Given the description of an element on the screen output the (x, y) to click on. 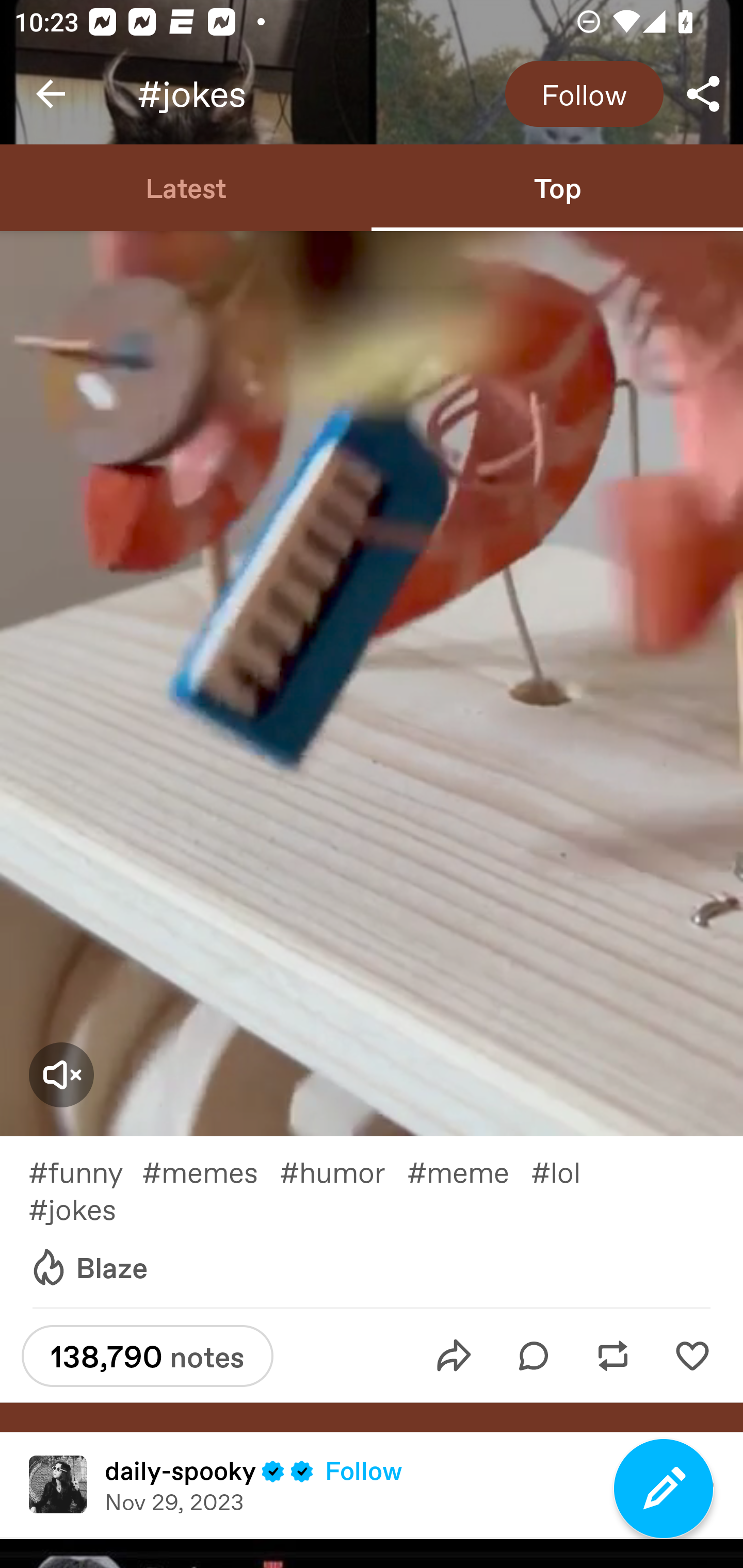
Navigate up (50, 93)
Follow (584, 94)
Latest (185, 187)
#funny (84, 1171)
#memes (210, 1171)
#humor (343, 1171)
#meme (469, 1171)
#lol (566, 1171)
#jokes (86, 1208)
Blaze Blaze Blaze (88, 1268)
Share post to message (454, 1356)
Reply (533, 1356)
Reblog (612, 1356)
Like (691, 1356)
138,790 notes (147, 1355)
Compose a new post (663, 1488)
Follow (363, 1469)
